Given the description of an element on the screen output the (x, y) to click on. 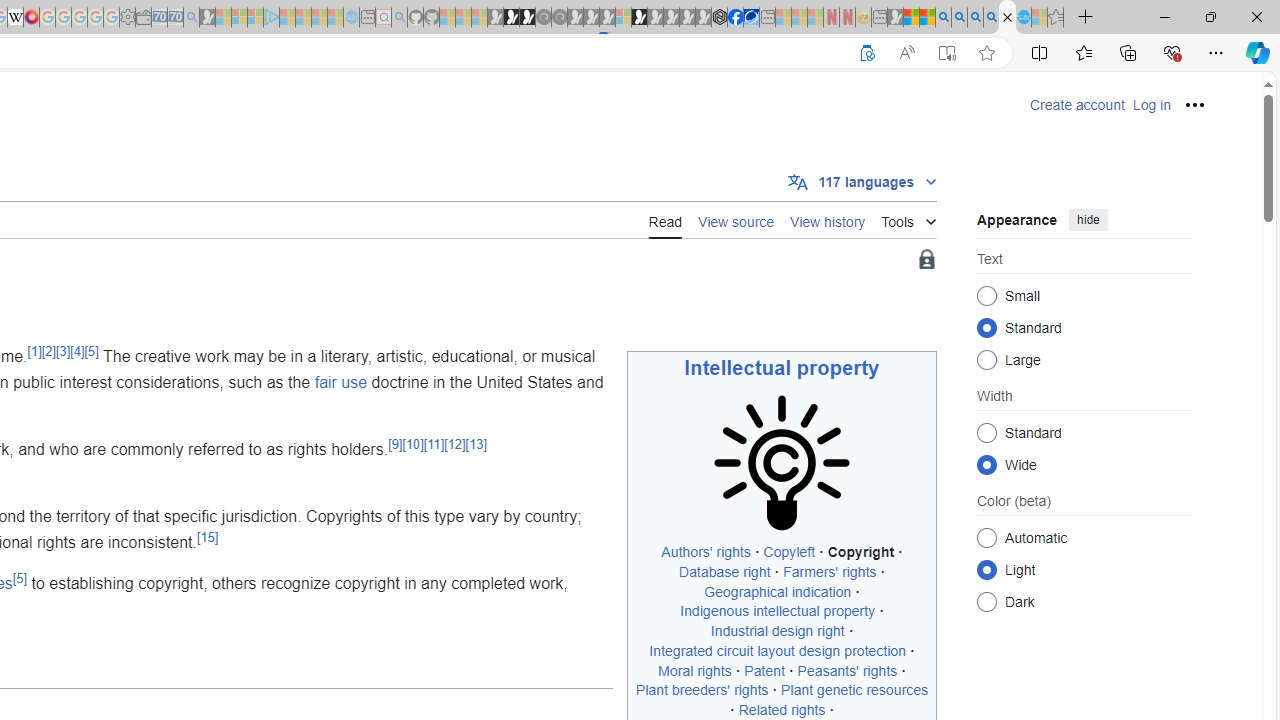
Light (986, 569)
Plant genetic resources (854, 690)
Copyleft (789, 552)
Log in (1151, 105)
Future Focus Report 2024 - Sleeping (559, 17)
2009 Bing officially replaced Live Search on June 3 - Search (959, 17)
Enter Immersive Reader (F9) (946, 53)
Large (986, 359)
